Given the description of an element on the screen output the (x, y) to click on. 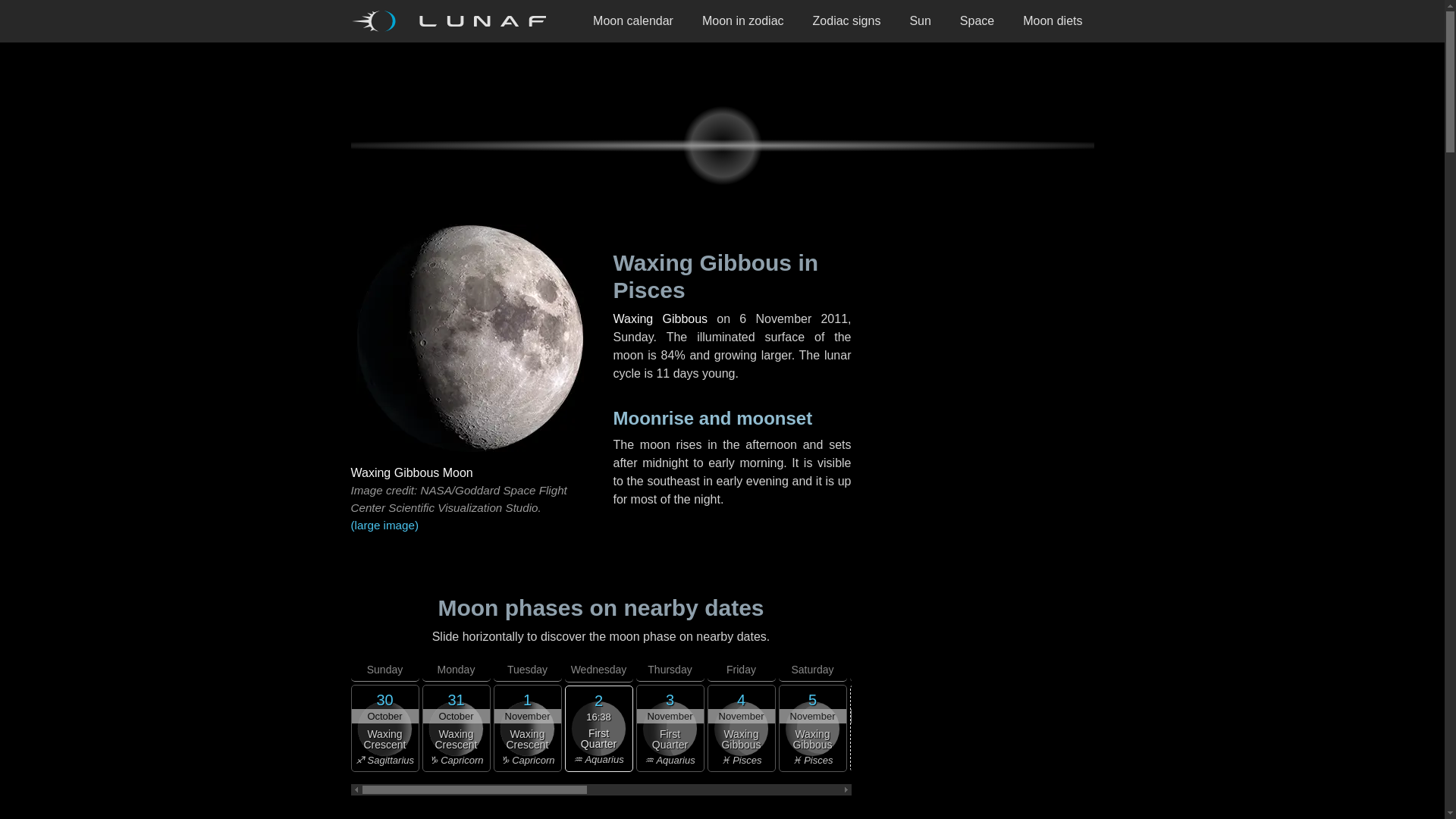
Zodiac signs (847, 21)
Large image PNG: Waxing Gibbous Moon (469, 525)
Moon diets (1052, 21)
Sun (920, 21)
Space (977, 21)
Moon diets (1052, 21)
Sun (920, 21)
Lunaf (453, 21)
Zodiac signs (847, 21)
Space (977, 21)
